Given the description of an element on the screen output the (x, y) to click on. 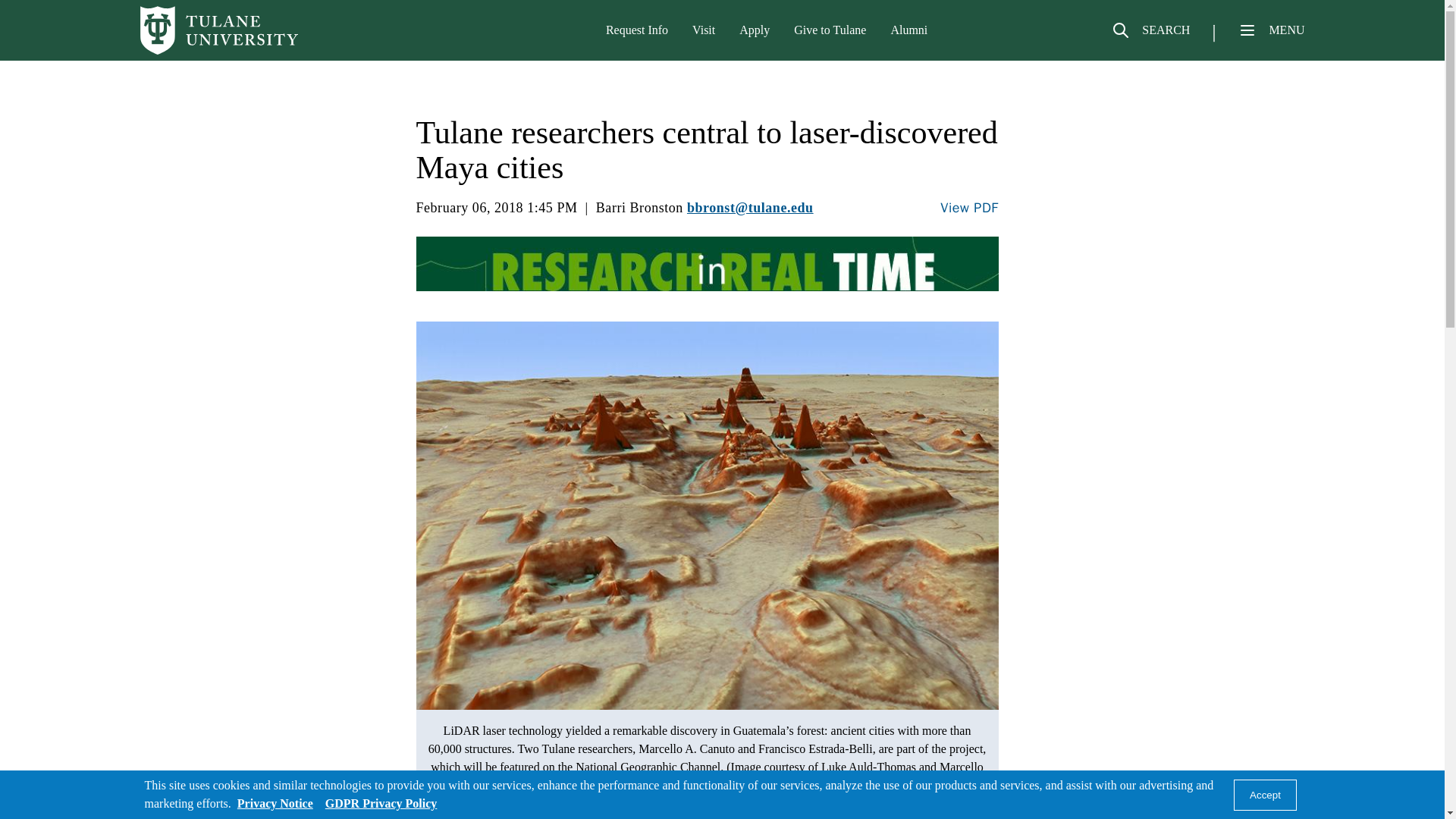
Home (218, 29)
Give to Tulane (829, 29)
GDPR Privacy Policy (381, 802)
Visit (703, 29)
Apply (754, 29)
View PDF (968, 207)
Privacy Notice (275, 802)
Research in Real Time (705, 263)
Request Info (636, 29)
Accept (1265, 794)
SEARCH (1150, 36)
Alumni (908, 29)
